Given the description of an element on the screen output the (x, y) to click on. 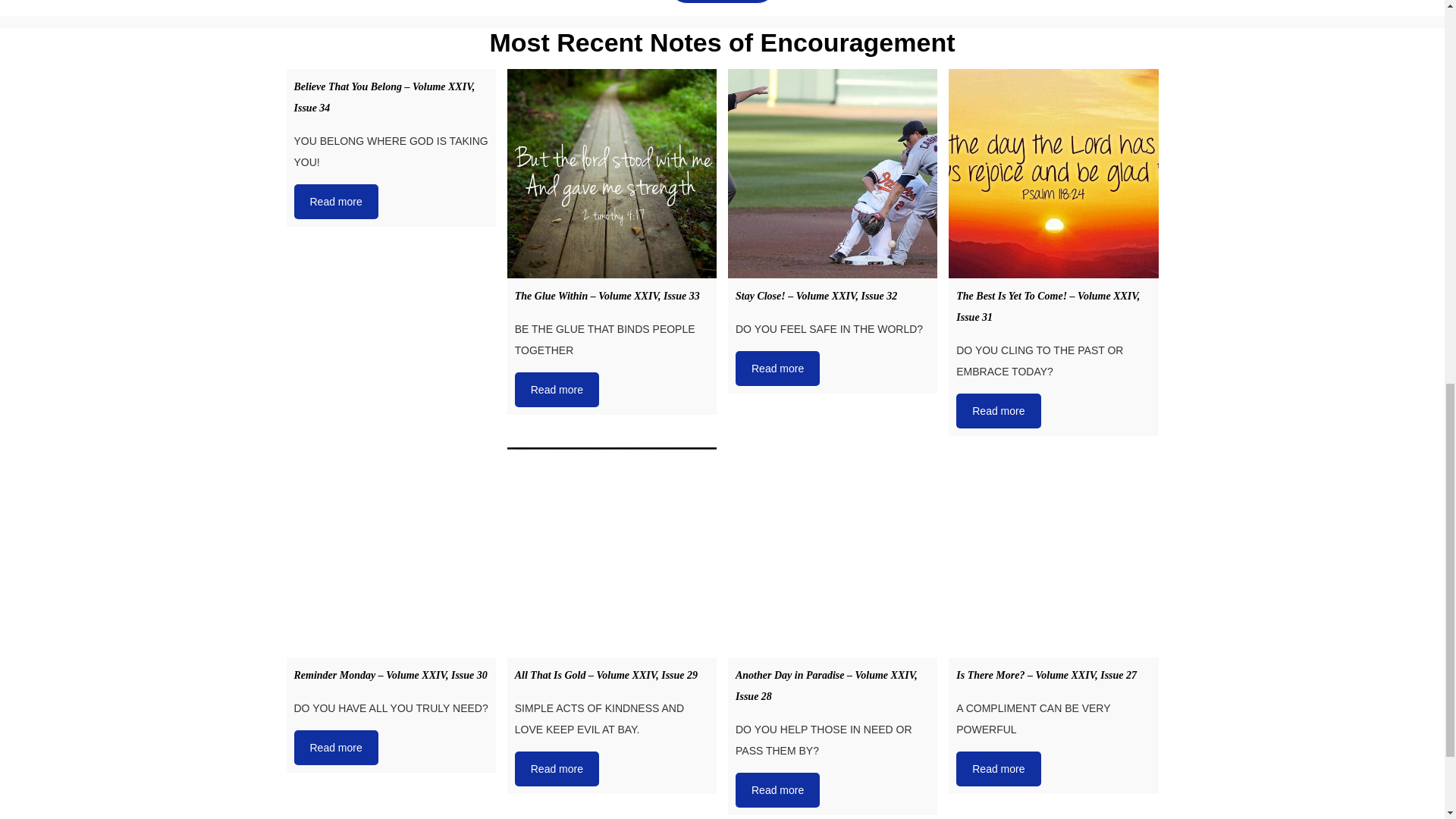
Read more (556, 389)
Read more (336, 201)
Note of Encouragement (722, 2)
Read more (777, 368)
